Given the description of an element on the screen output the (x, y) to click on. 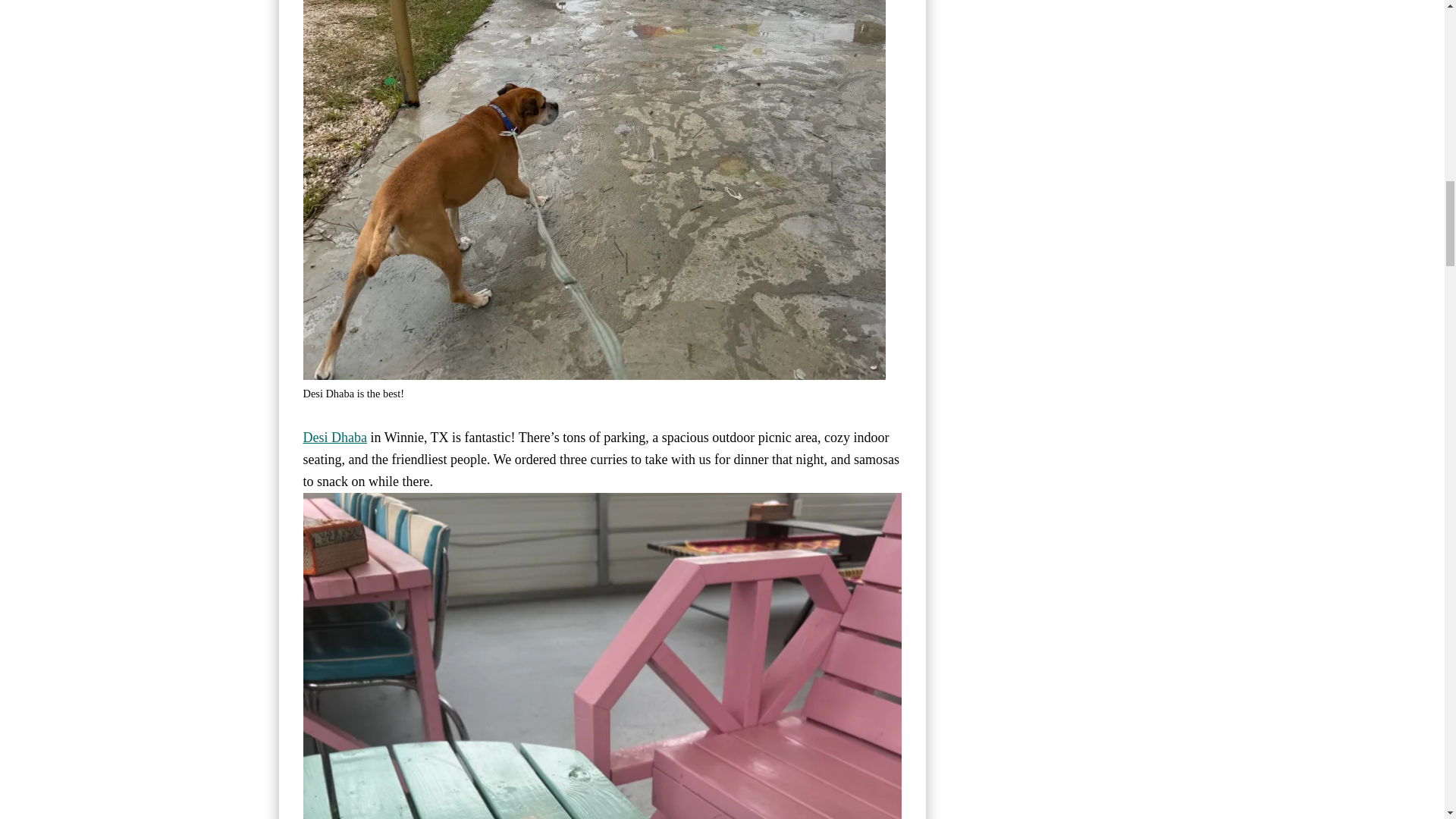
Desi Dhaba (334, 437)
